Given the description of an element on the screen output the (x, y) to click on. 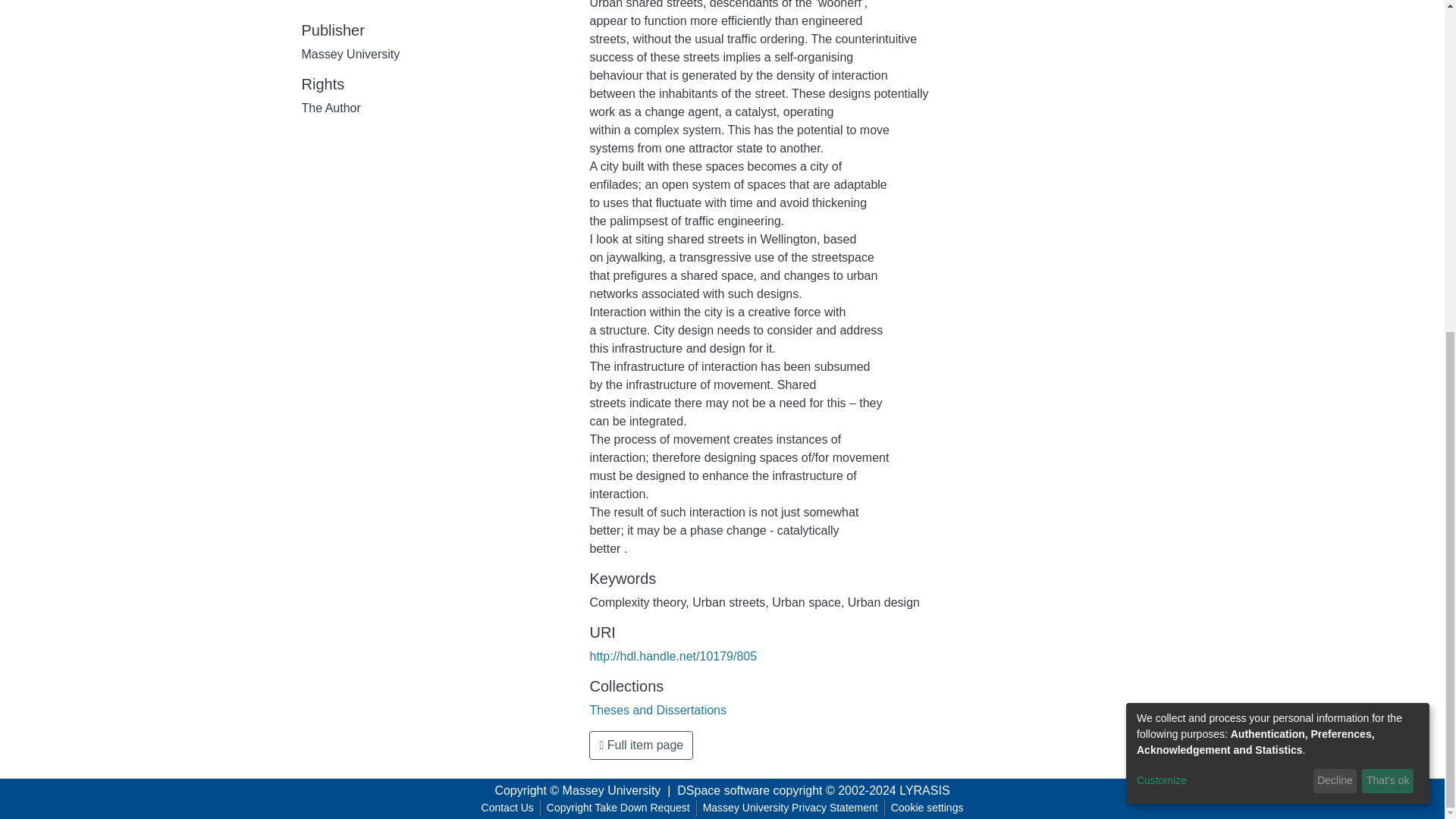
LYRASIS (924, 789)
Contact Us (508, 807)
Full item page (641, 745)
Theses and Dissertations (657, 709)
DSpace software (723, 789)
